Given the description of an element on the screen output the (x, y) to click on. 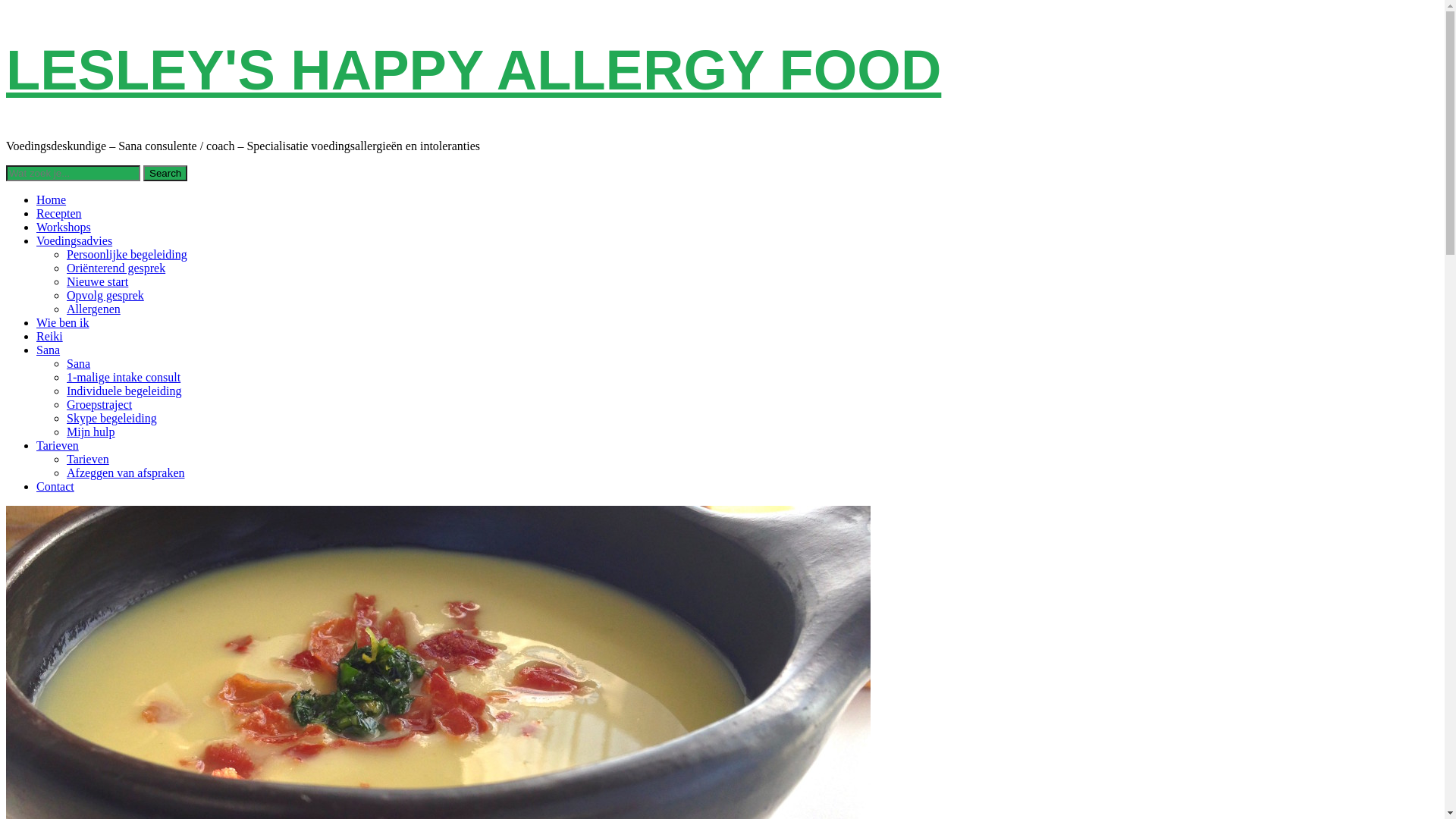
Tarieven Element type: text (57, 445)
Contact Element type: text (55, 486)
Sana Element type: text (78, 363)
Opvolg gesprek Element type: text (105, 294)
1-malige intake consult Element type: text (123, 376)
Reiki Element type: text (49, 335)
Groepstraject Element type: text (98, 404)
Persoonlijke begeleiding Element type: text (126, 253)
Tarieven Element type: text (87, 458)
Nieuwe start Element type: text (97, 281)
Home Element type: text (50, 199)
Afzeggen van afspraken Element type: text (125, 472)
Recepten Element type: text (58, 213)
Mijn hulp Element type: text (90, 431)
Voedingsadvies Element type: text (74, 240)
Allergenen Element type: text (93, 308)
LESLEY'S HAPPY ALLERGY FOOD Element type: text (473, 69)
Sana Element type: text (47, 349)
Workshops Element type: text (63, 226)
Individuele begeleiding Element type: text (124, 390)
Search Element type: text (165, 173)
Skype begeleiding Element type: text (111, 417)
Wie ben ik Element type: text (62, 322)
